Given the description of an element on the screen output the (x, y) to click on. 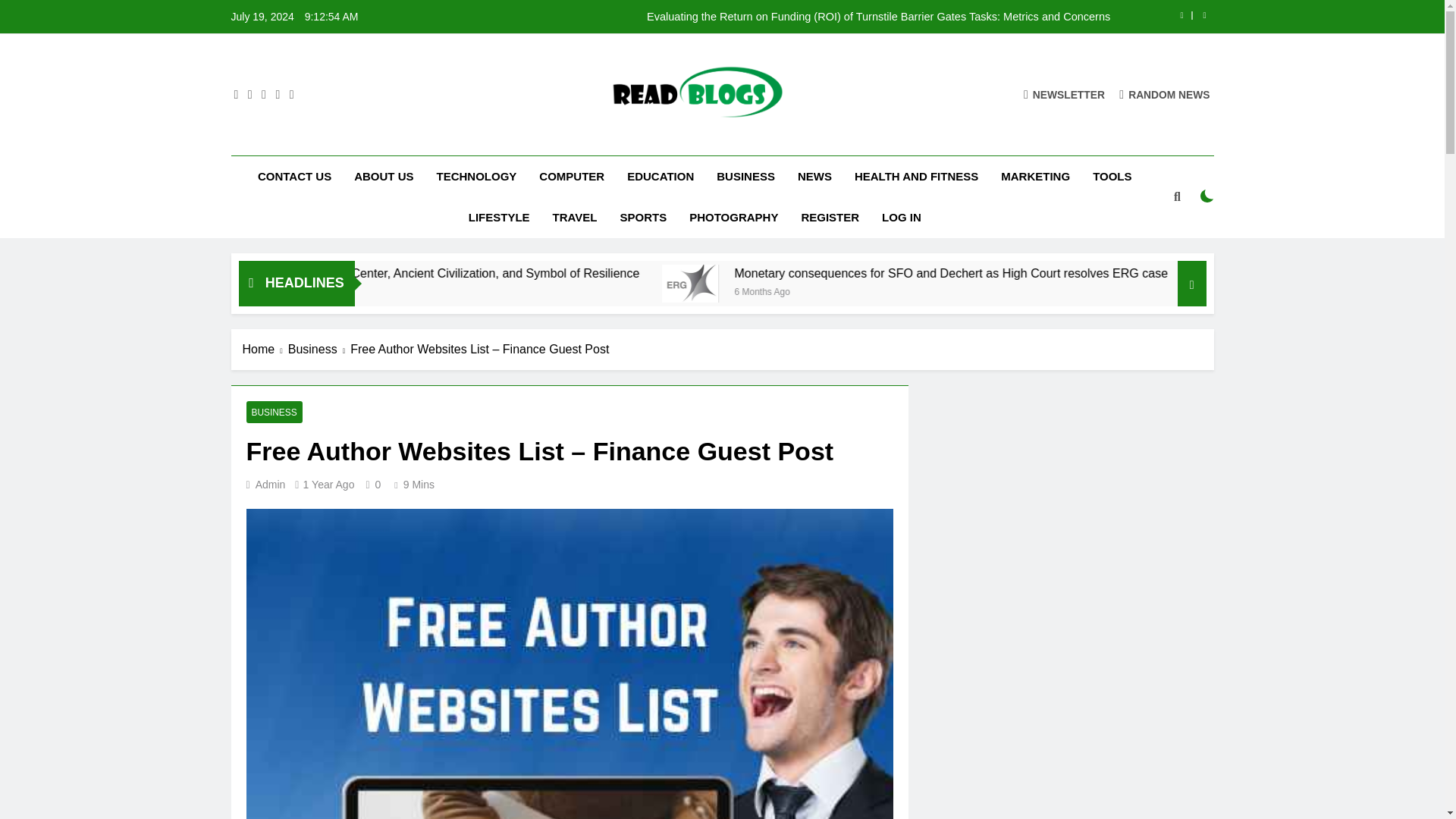
CONTACT US (294, 176)
HEALTH AND FITNESS (916, 176)
LIFESTYLE (499, 217)
BUSINESS (745, 176)
Read-Blogs (514, 141)
ABOUT US (383, 176)
TOOLS (1111, 176)
REGISTER (829, 217)
on (1206, 196)
COMPUTER (571, 176)
NEWS (814, 176)
